Given the description of an element on the screen output the (x, y) to click on. 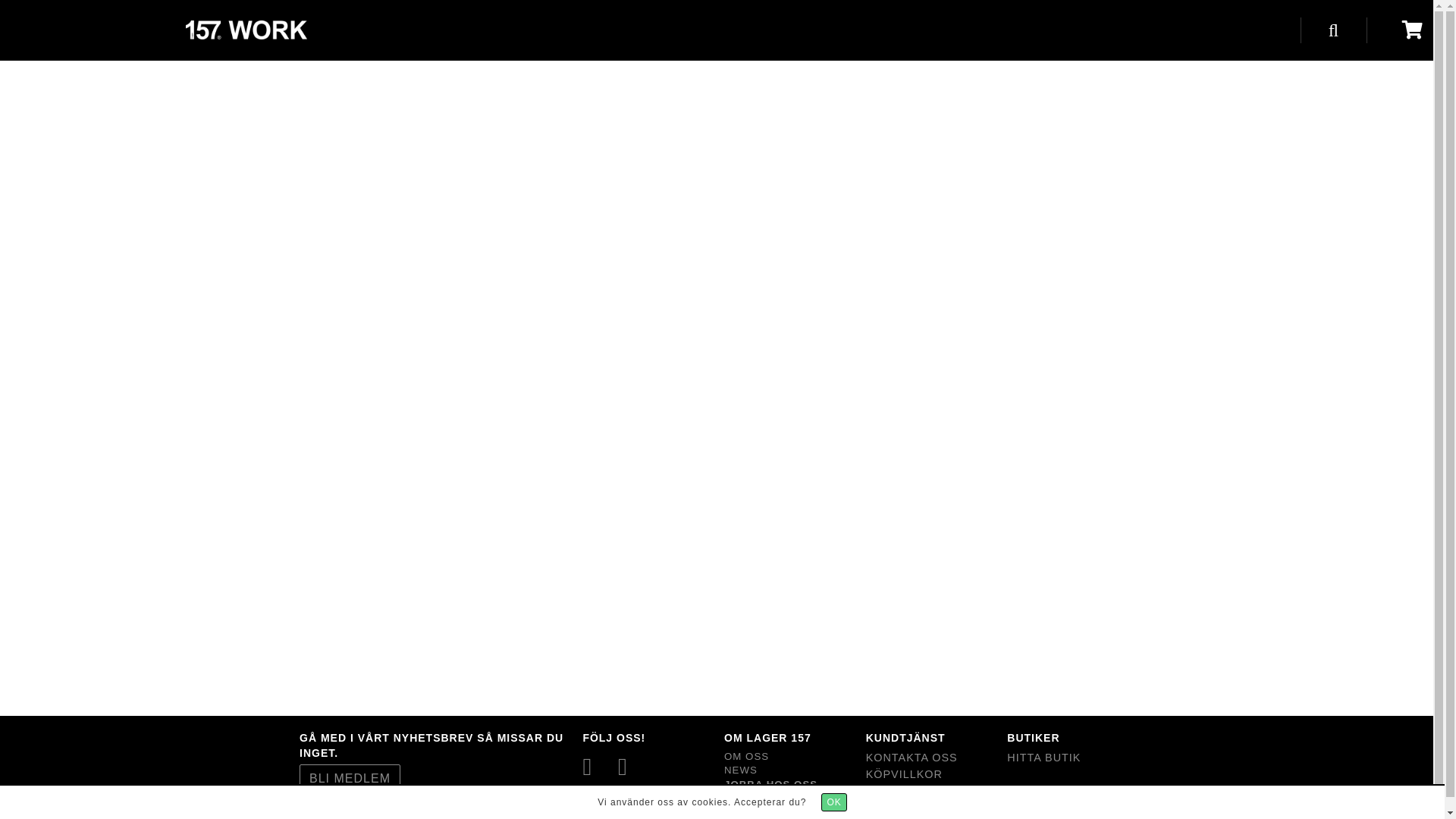
BETALNING/RETUR Element type: text (929, 790)
OM OSS Element type: text (746, 756)
HITTA BUTIK Element type: text (1070, 757)
CERTIFIKAT Element type: text (756, 797)
NEWS Element type: text (740, 769)
JOBBA HOS OSS Element type: text (770, 784)
KONTAKTA OSS Element type: text (929, 757)
BLI MEDLEM Element type: text (349, 778)
PRESENTKORT Element type: text (909, 806)
